Given the description of an element on the screen output the (x, y) to click on. 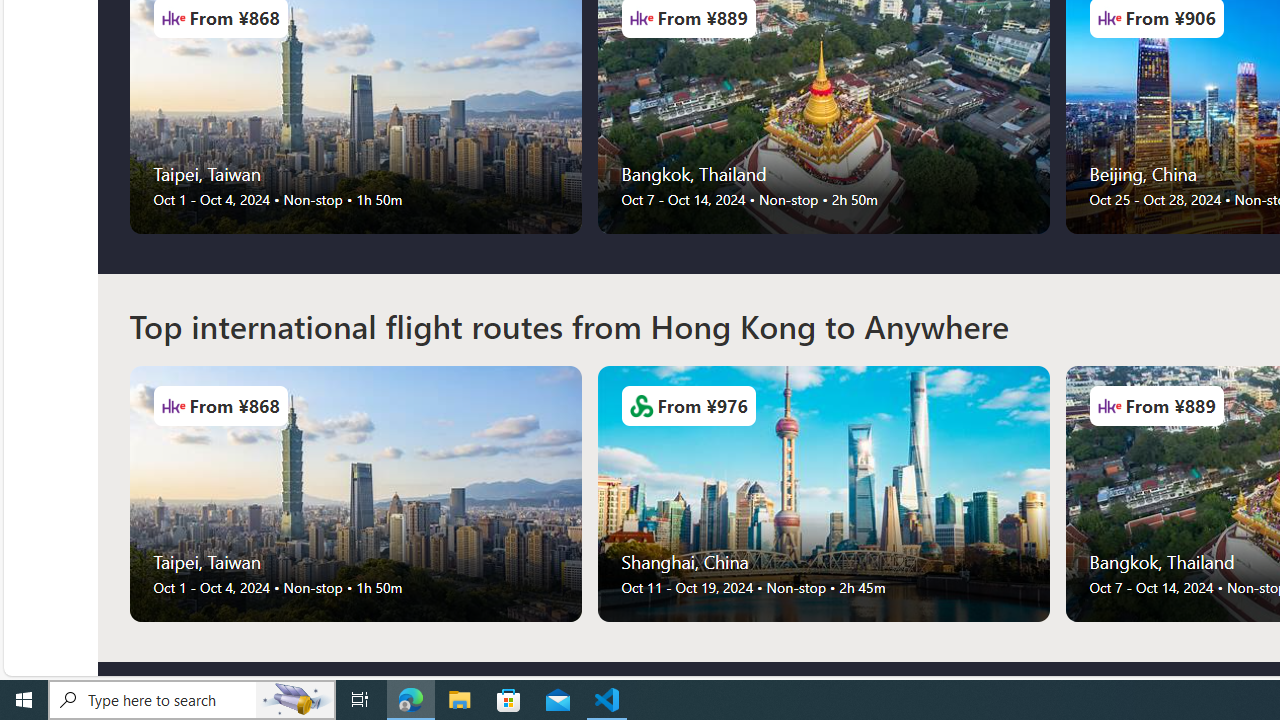
Airlines Logo (1109, 405)
